Given the description of an element on the screen output the (x, y) to click on. 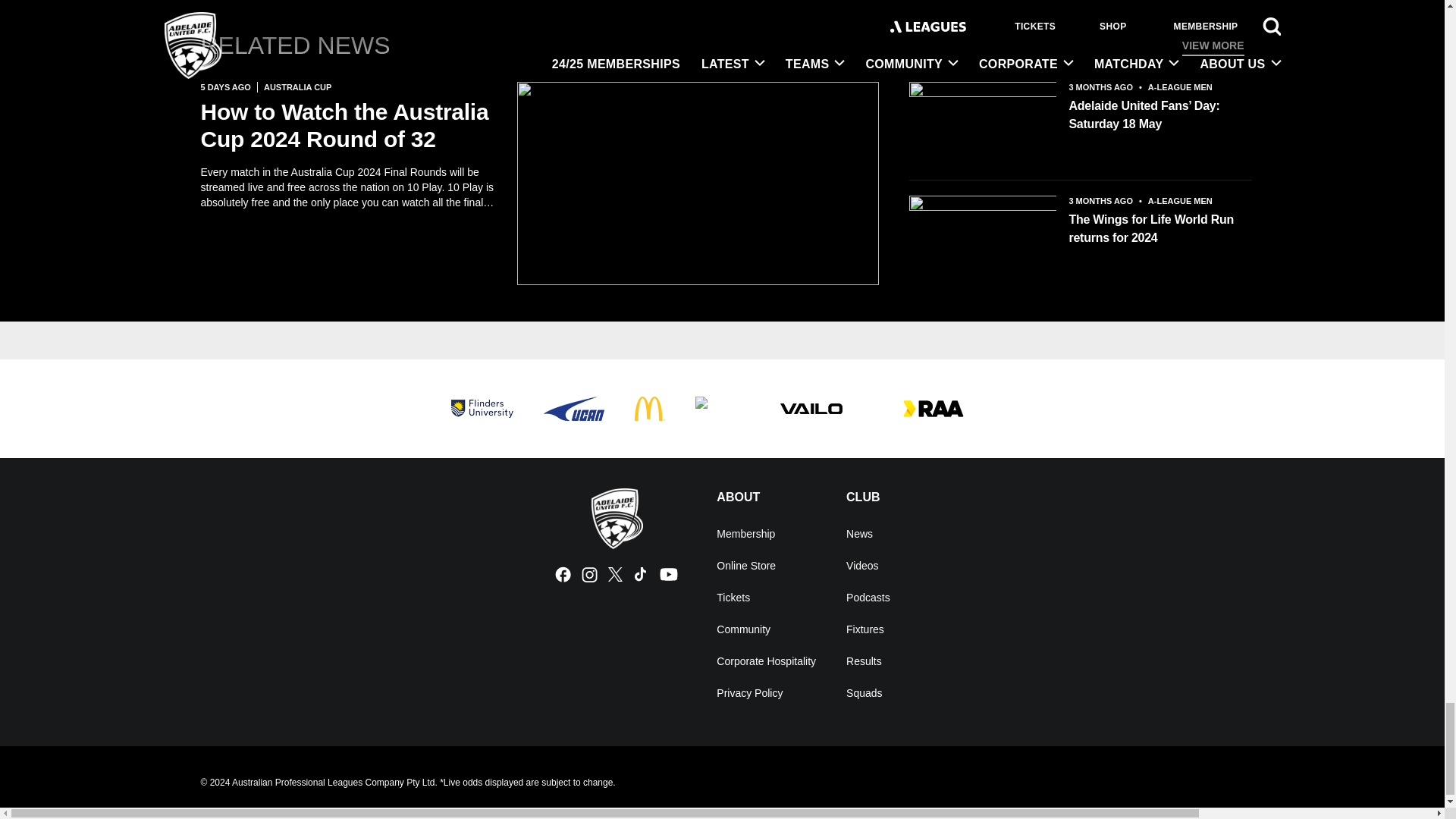
RAA (932, 408)
UCAN (573, 408)
Flinders University (480, 408)
Kite Property (721, 408)
VAILO (809, 408)
